Given the description of an element on the screen output the (x, y) to click on. 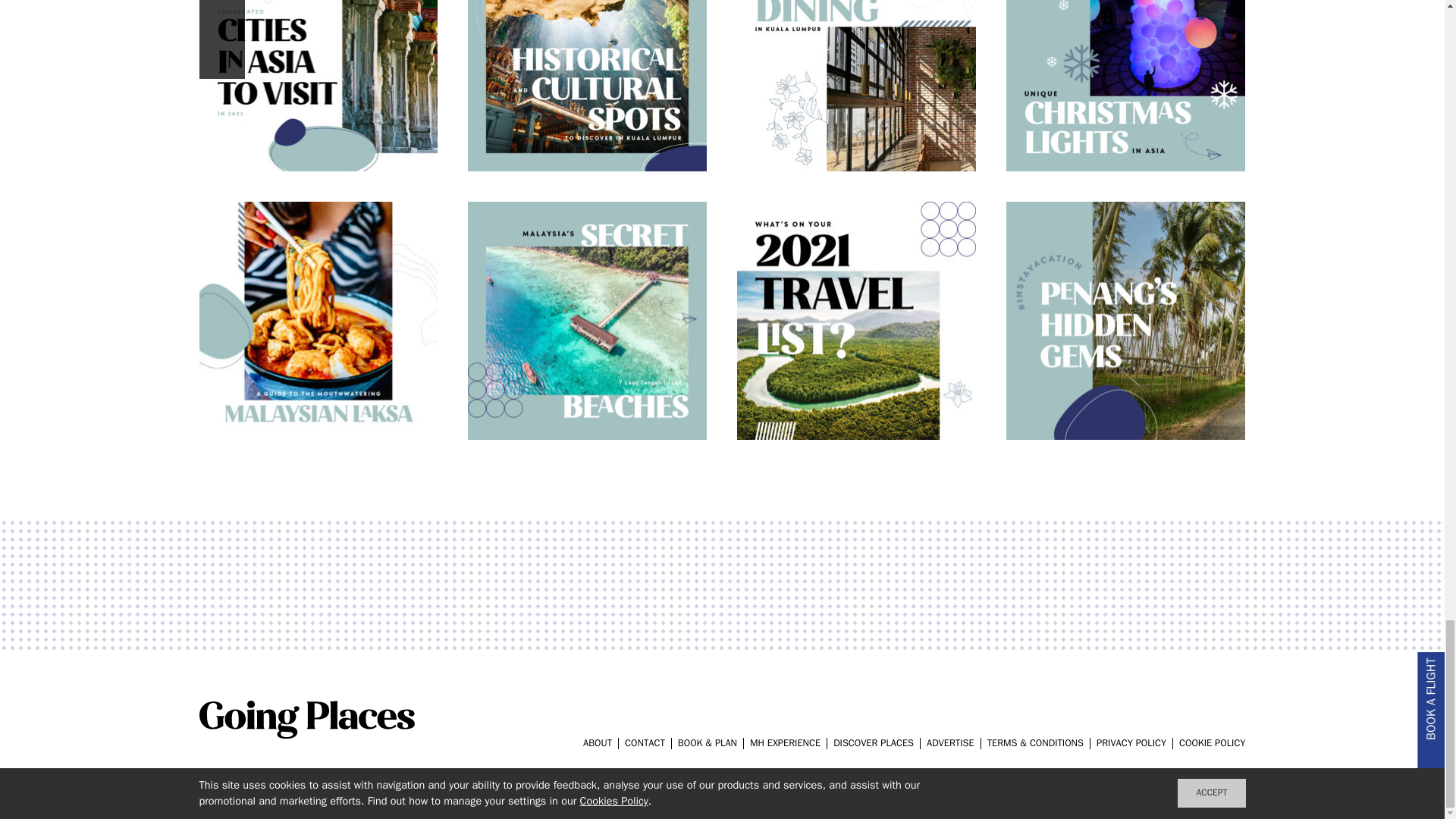
Going Places by Malaysia Airlines (305, 734)
